Given the description of an element on the screen output the (x, y) to click on. 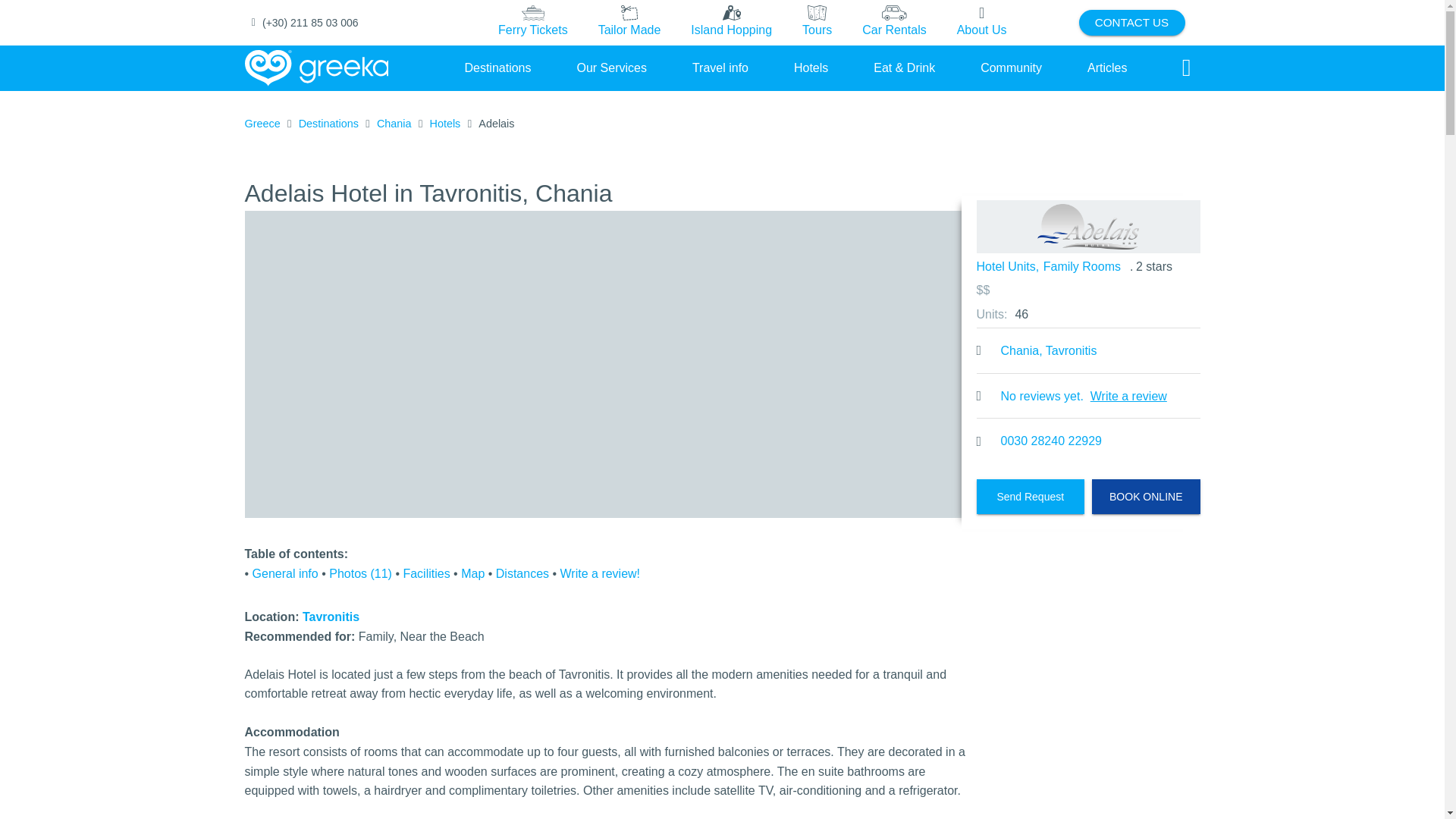
Family Rooms (1082, 266)
Contact us (1131, 22)
Adelais (1087, 226)
Hotels (810, 67)
Car rentals (893, 22)
Send Request (1030, 496)
Island Hopping (730, 22)
Chania, Tavronitis (1049, 351)
No reviews yet.  Write a review (1087, 395)
Travel info (720, 67)
Blog (1106, 67)
Search (1185, 67)
Articles (1106, 67)
About Us (982, 22)
0030 28240 22929 (1051, 441)
